Given the description of an element on the screen output the (x, y) to click on. 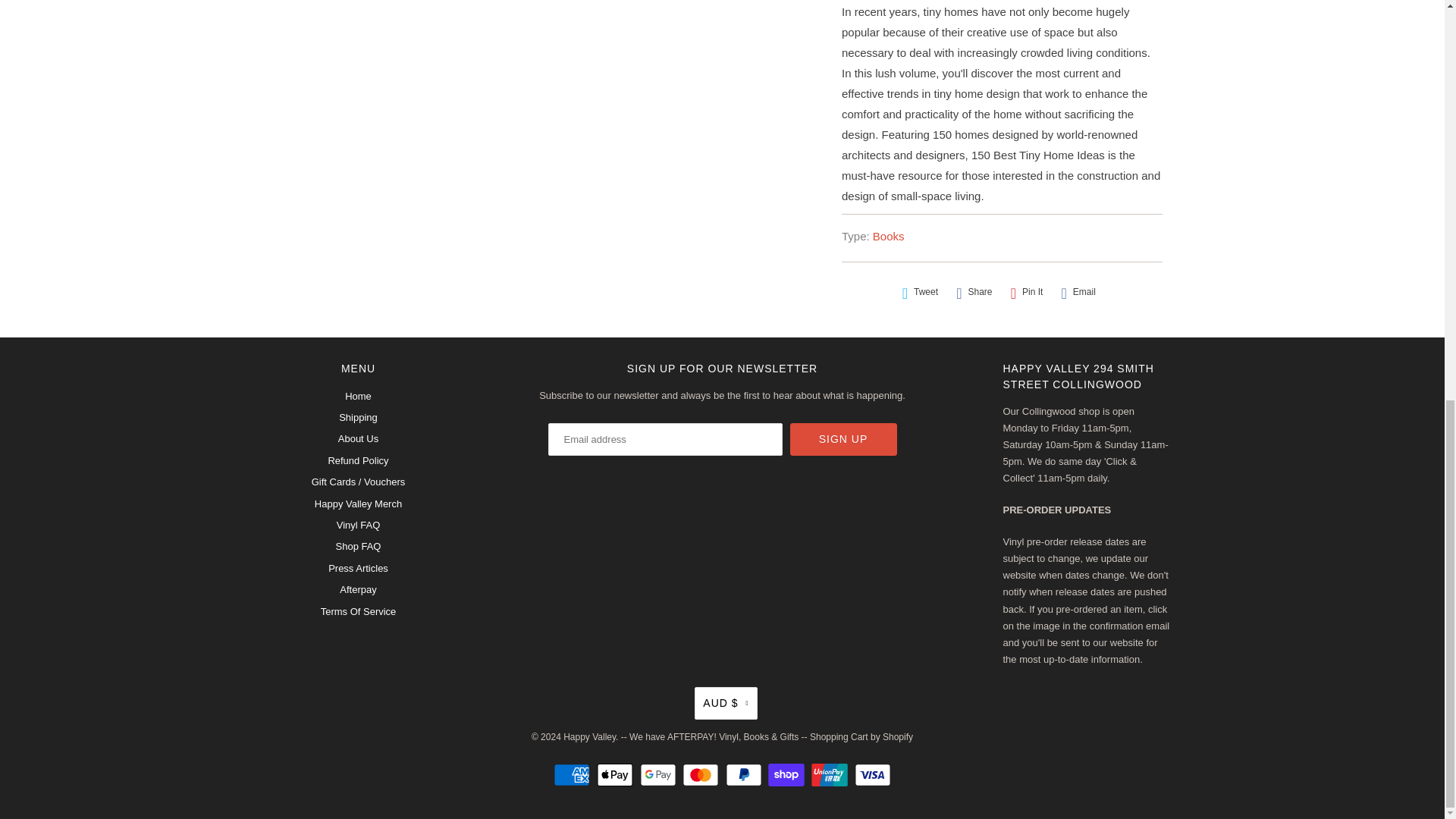
Shop Pay (788, 774)
Books (888, 236)
Email this to a friend (1078, 292)
Mastercard (702, 774)
PayPal (745, 774)
Apple Pay (616, 774)
Union Pay (830, 774)
Visa (872, 774)
Google Pay (659, 774)
Share this on Twitter (920, 292)
